Given the description of an element on the screen output the (x, y) to click on. 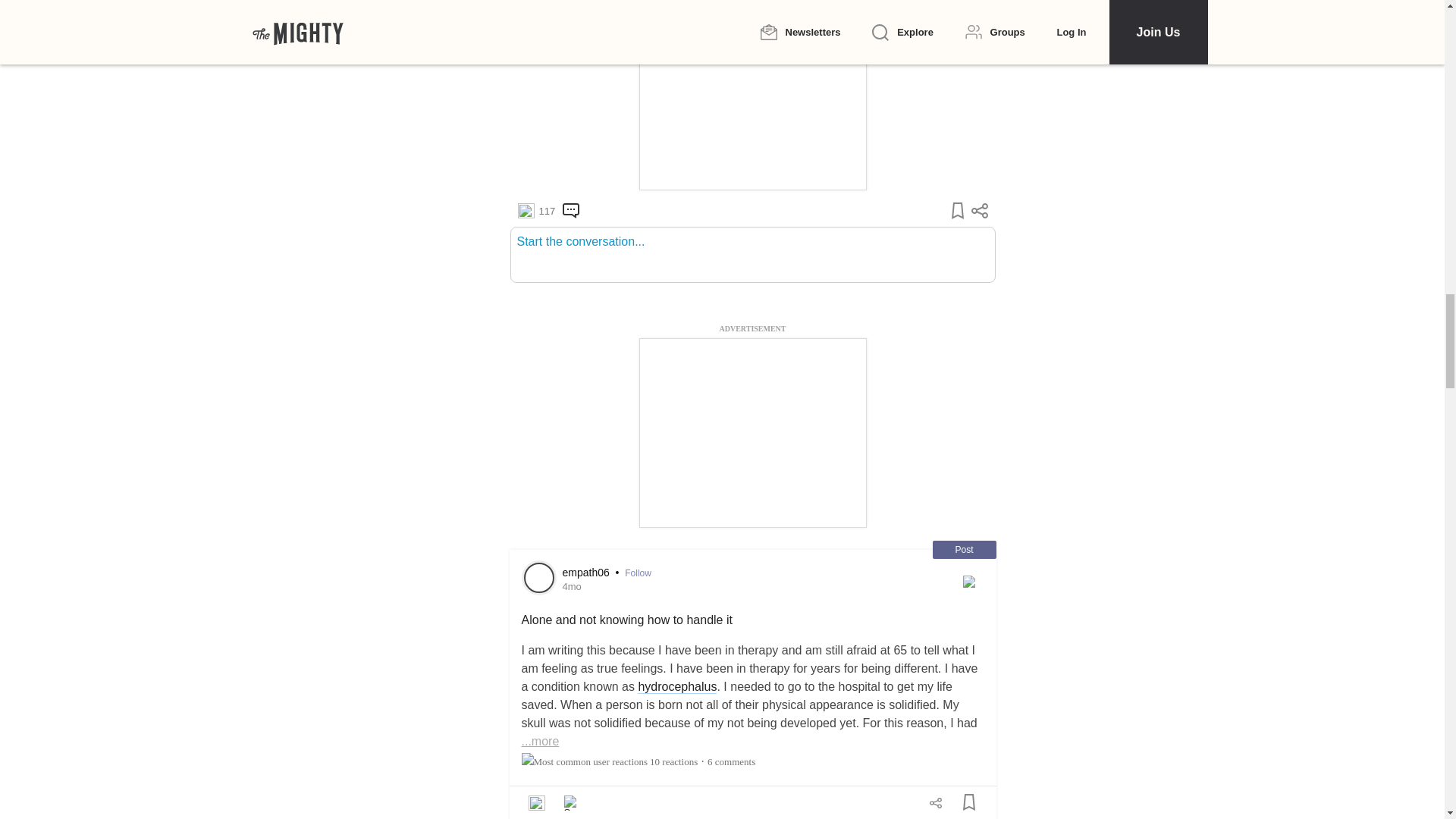
April 13, 2024 (571, 586)
hydrocephalus (676, 686)
Visit empath06's profile (537, 577)
Show more of this Post (540, 740)
117 (535, 210)
